Given the description of an element on the screen output the (x, y) to click on. 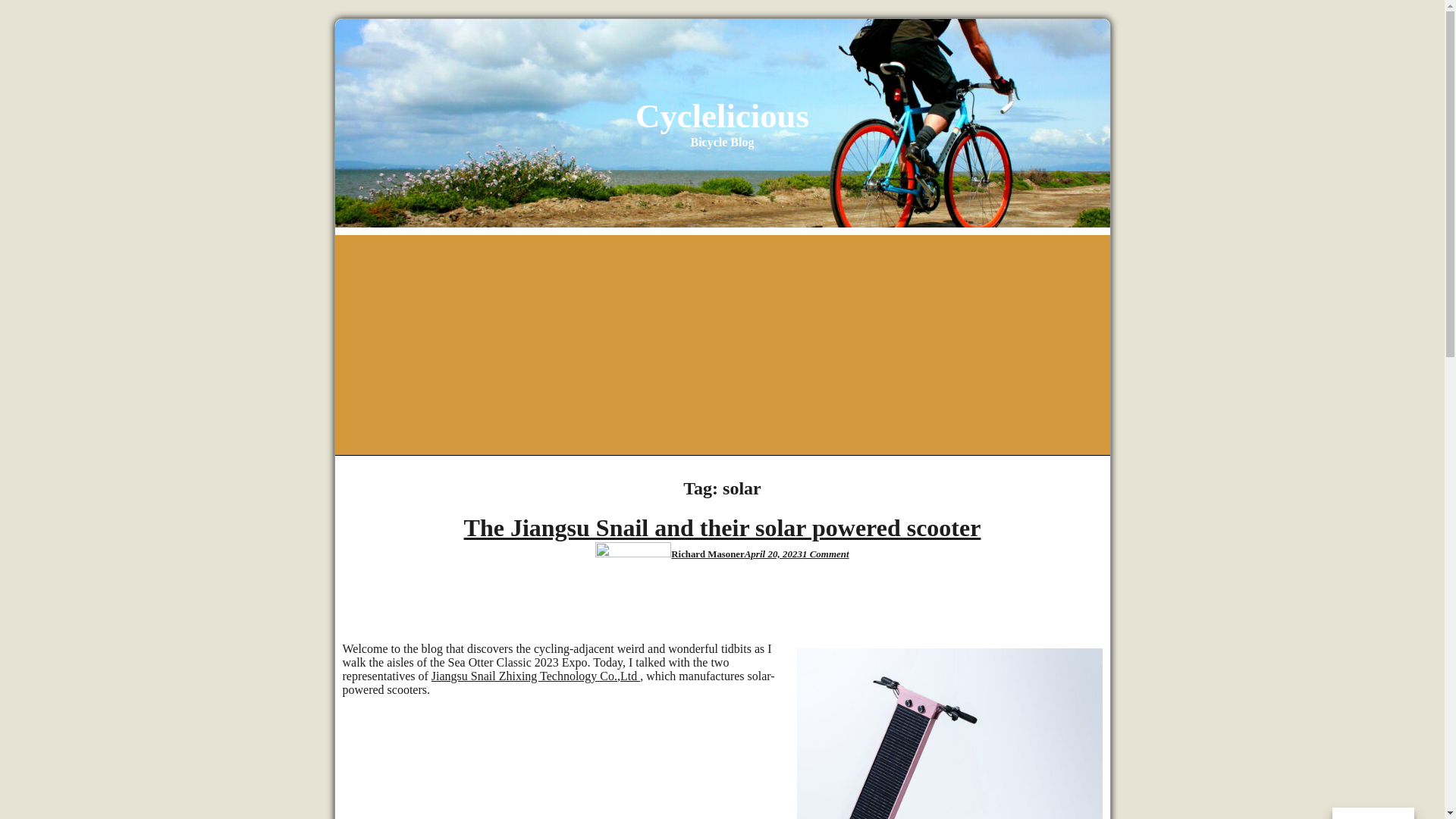
April 20, 2023 (773, 553)
The Jiangsu Snail and their solar powered scooter (722, 527)
Jiangsu Snail Zhixing Technology Co.,Ltd  (535, 675)
View all posts by Richard Masoner (707, 553)
9:44 pm (773, 553)
Cyclelicious (721, 116)
Richard Masoner (707, 553)
